Given the description of an element on the screen output the (x, y) to click on. 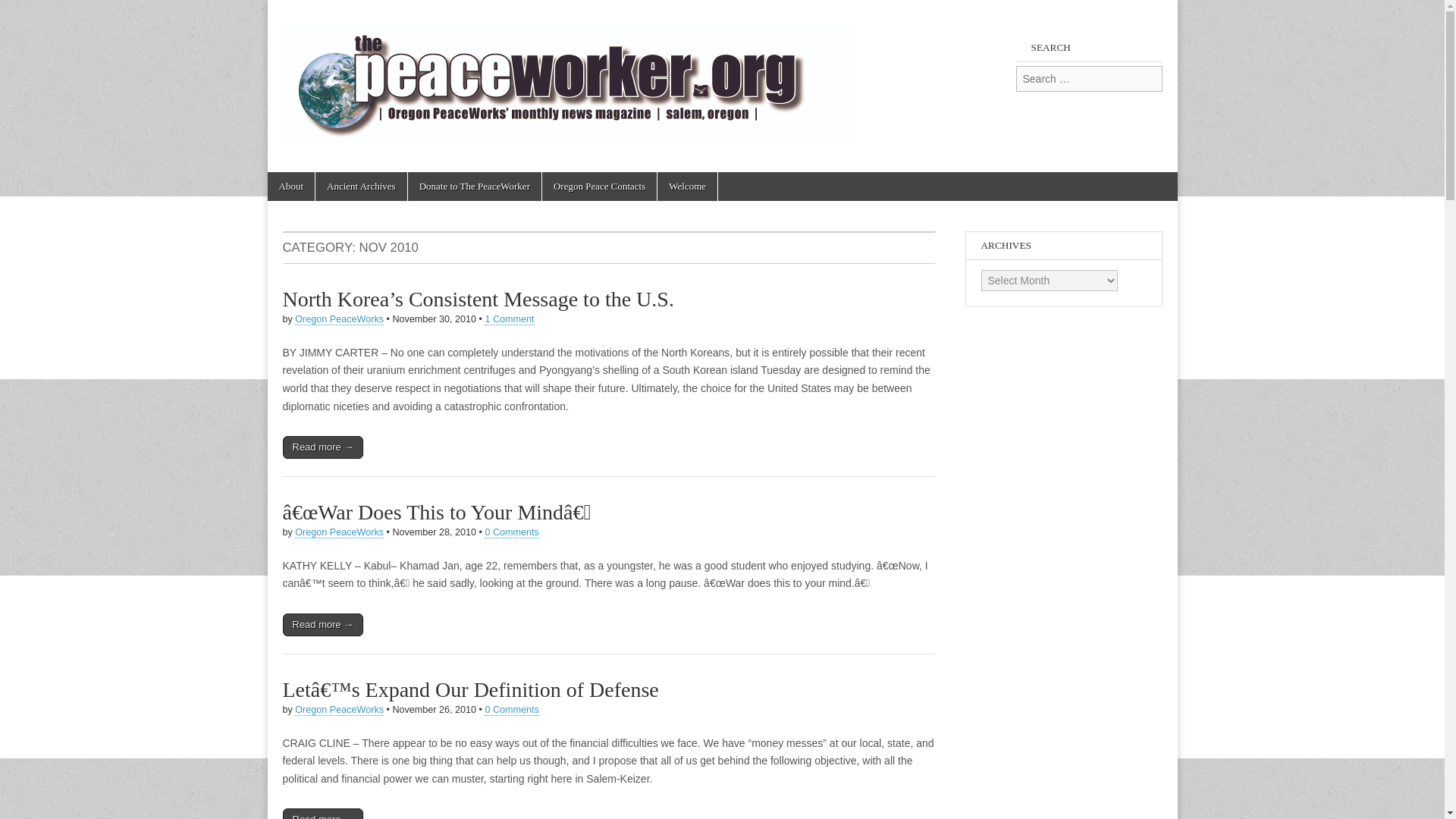
The PeaceWorker (567, 74)
Oregon PeaceWorks (339, 319)
Oregon PeaceWorks (339, 532)
Oregon PeaceWorks (339, 709)
Posts by Oregon PeaceWorks (339, 319)
0 Comments (511, 532)
Donate to The PeaceWorker (474, 185)
Search (23, 12)
0 Comments (511, 709)
